Given the description of an element on the screen output the (x, y) to click on. 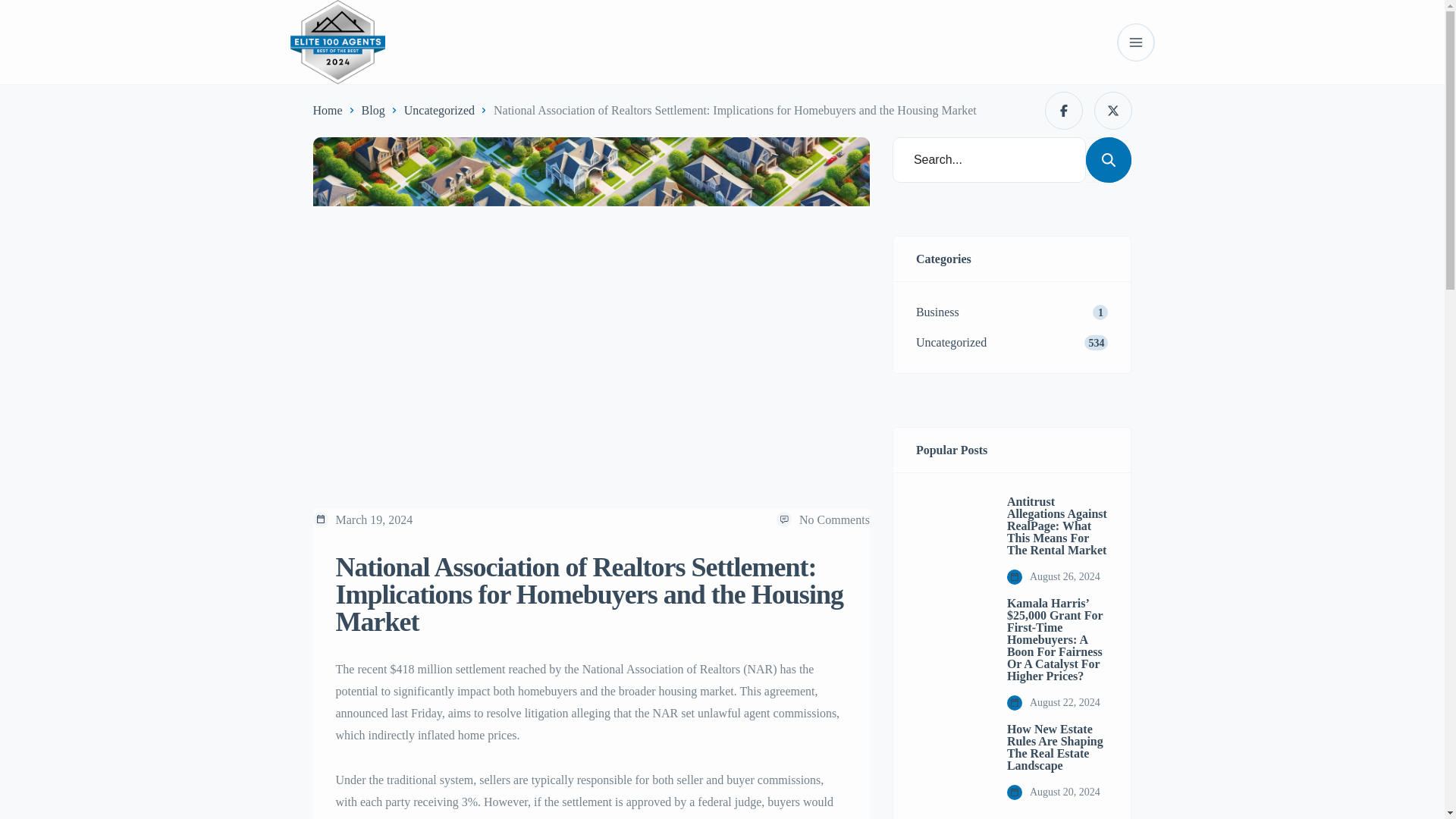
Elite 100 Agents (336, 42)
Uncategorized (439, 110)
Blog (373, 110)
Blog (373, 110)
Home (327, 110)
Home (327, 110)
Uncategorized (439, 110)
